Given the description of an element on the screen output the (x, y) to click on. 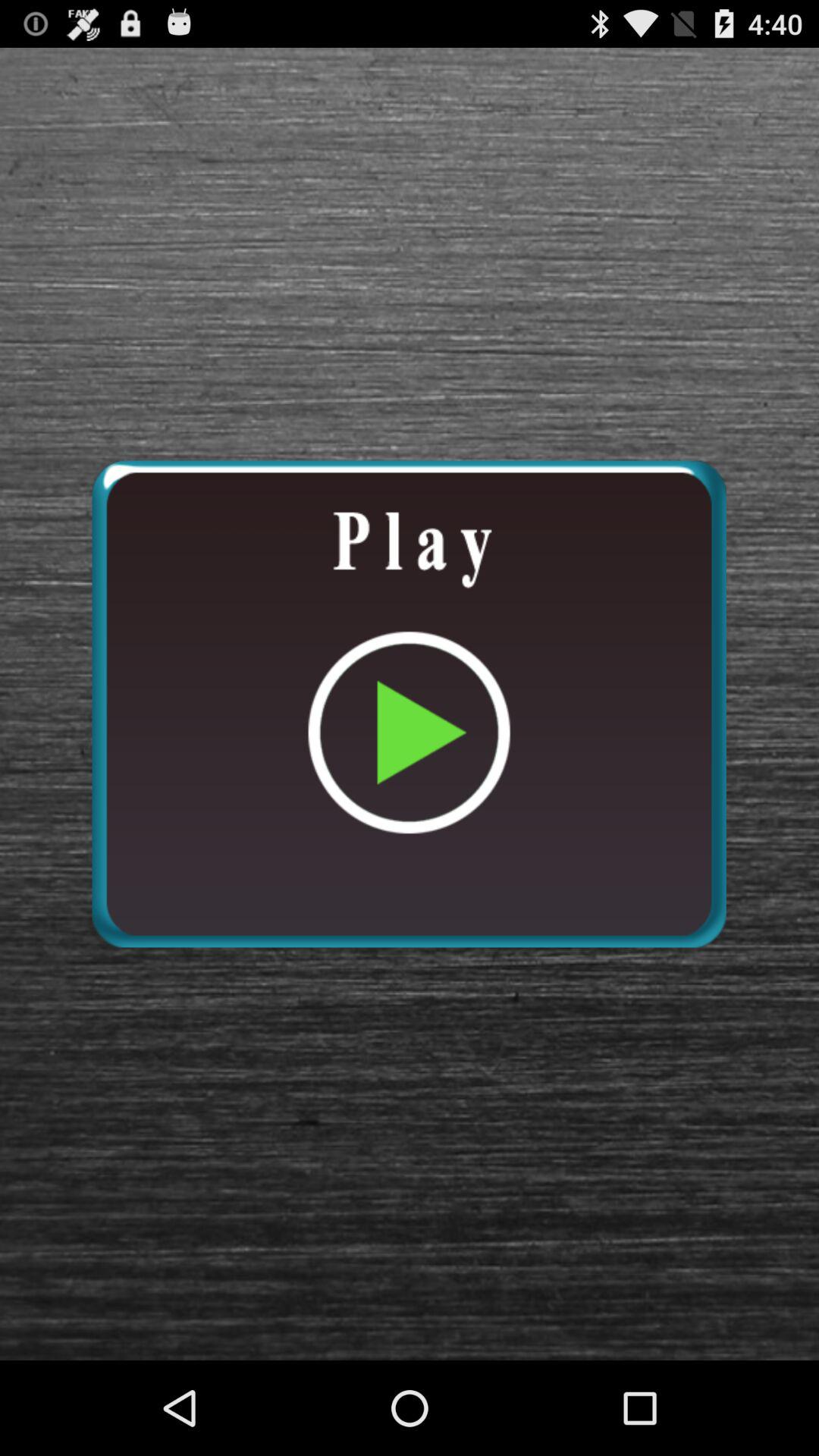
play button (409, 703)
